Given the description of an element on the screen output the (x, y) to click on. 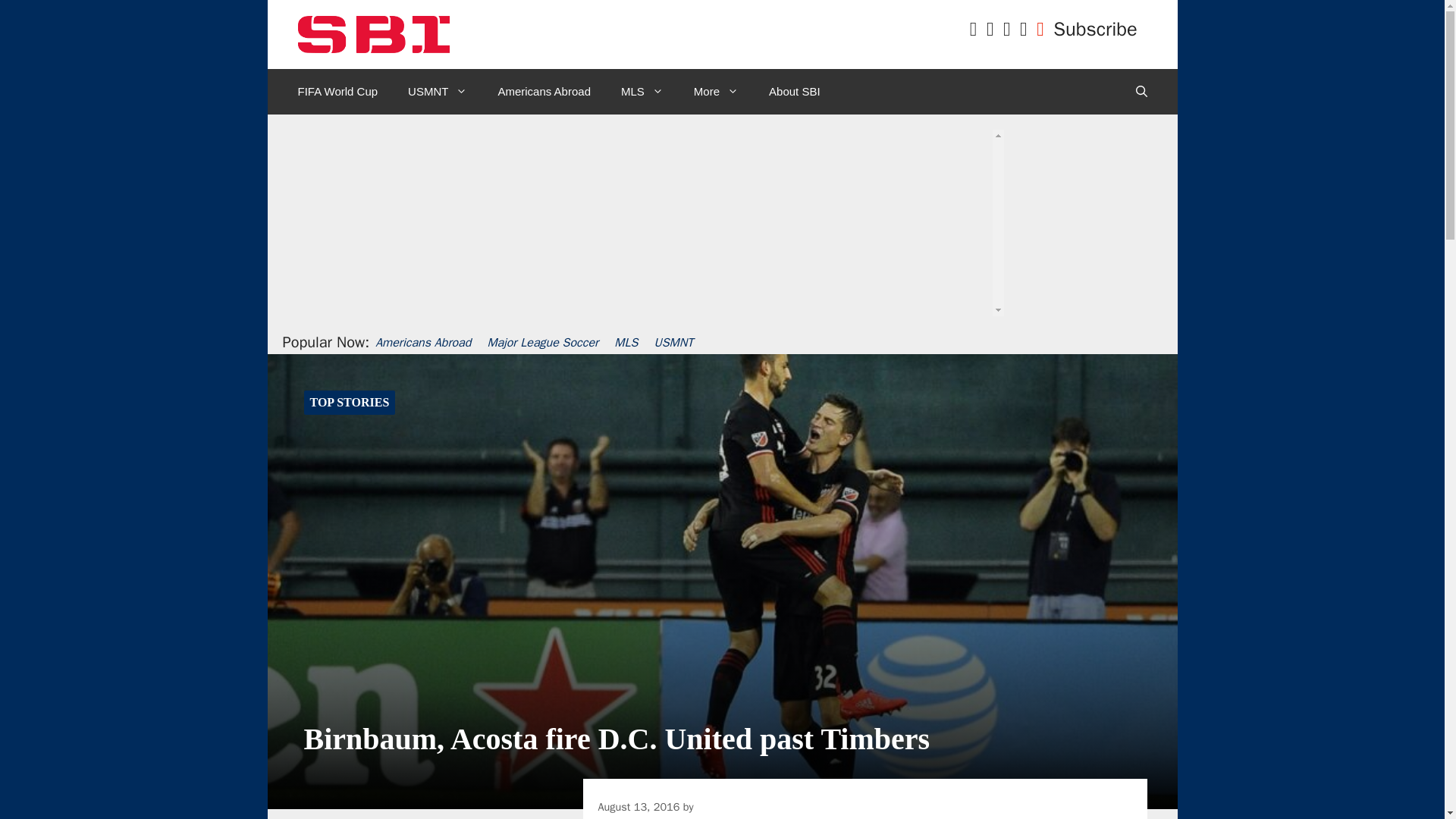
USMNT (437, 91)
MLS (641, 91)
Americans Abroad (543, 91)
FIFA World Cup (337, 91)
Advertisement (716, 256)
Subscribe (1094, 28)
